Given the description of an element on the screen output the (x, y) to click on. 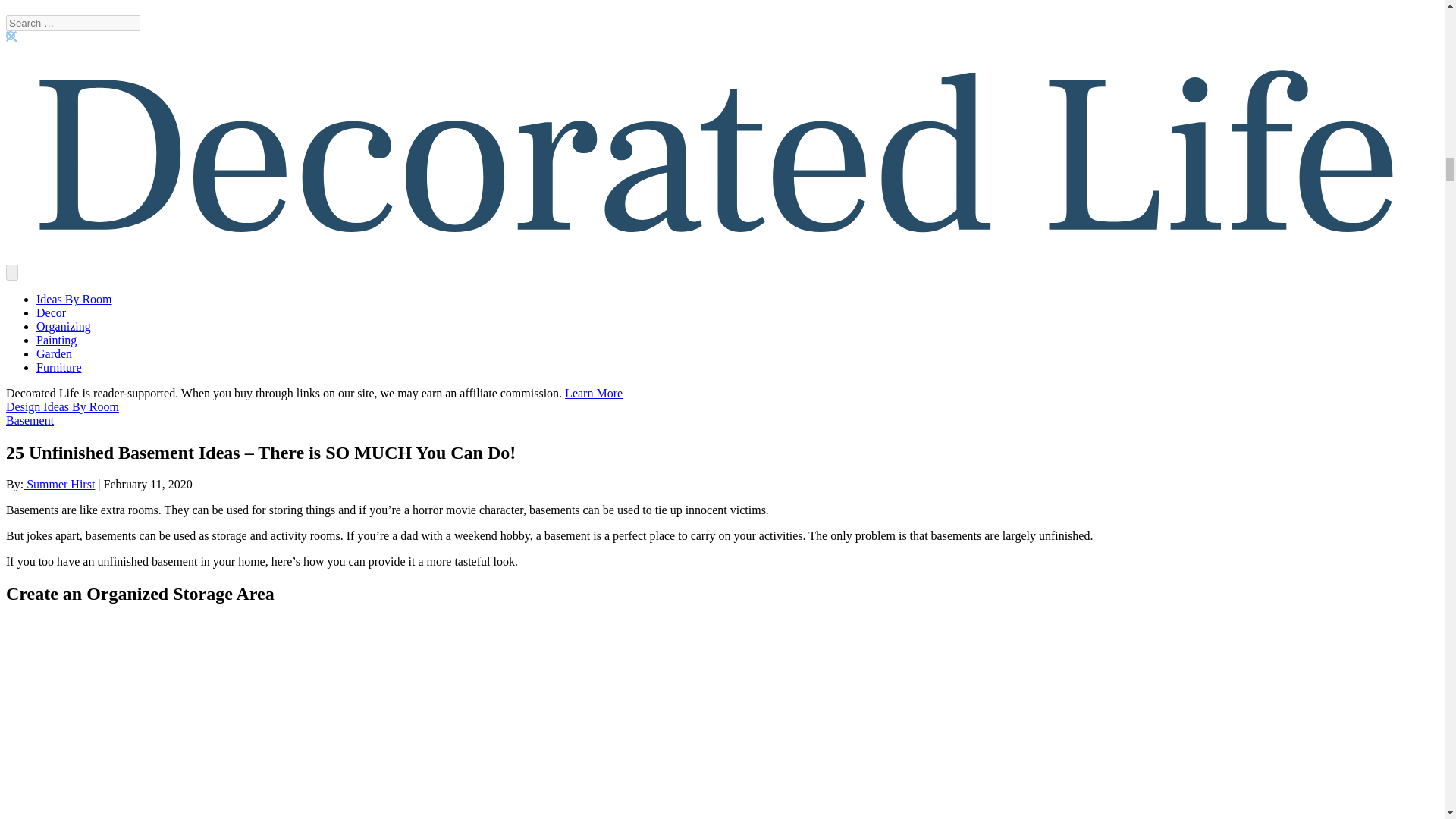
Learn More (593, 392)
Basement (29, 420)
Painting (56, 339)
Design Ideas By Room (62, 406)
Garden (53, 353)
Organizing (63, 326)
Decor (50, 312)
Summer Hirst (58, 483)
Ideas By Room (74, 298)
Furniture (58, 367)
